Given the description of an element on the screen output the (x, y) to click on. 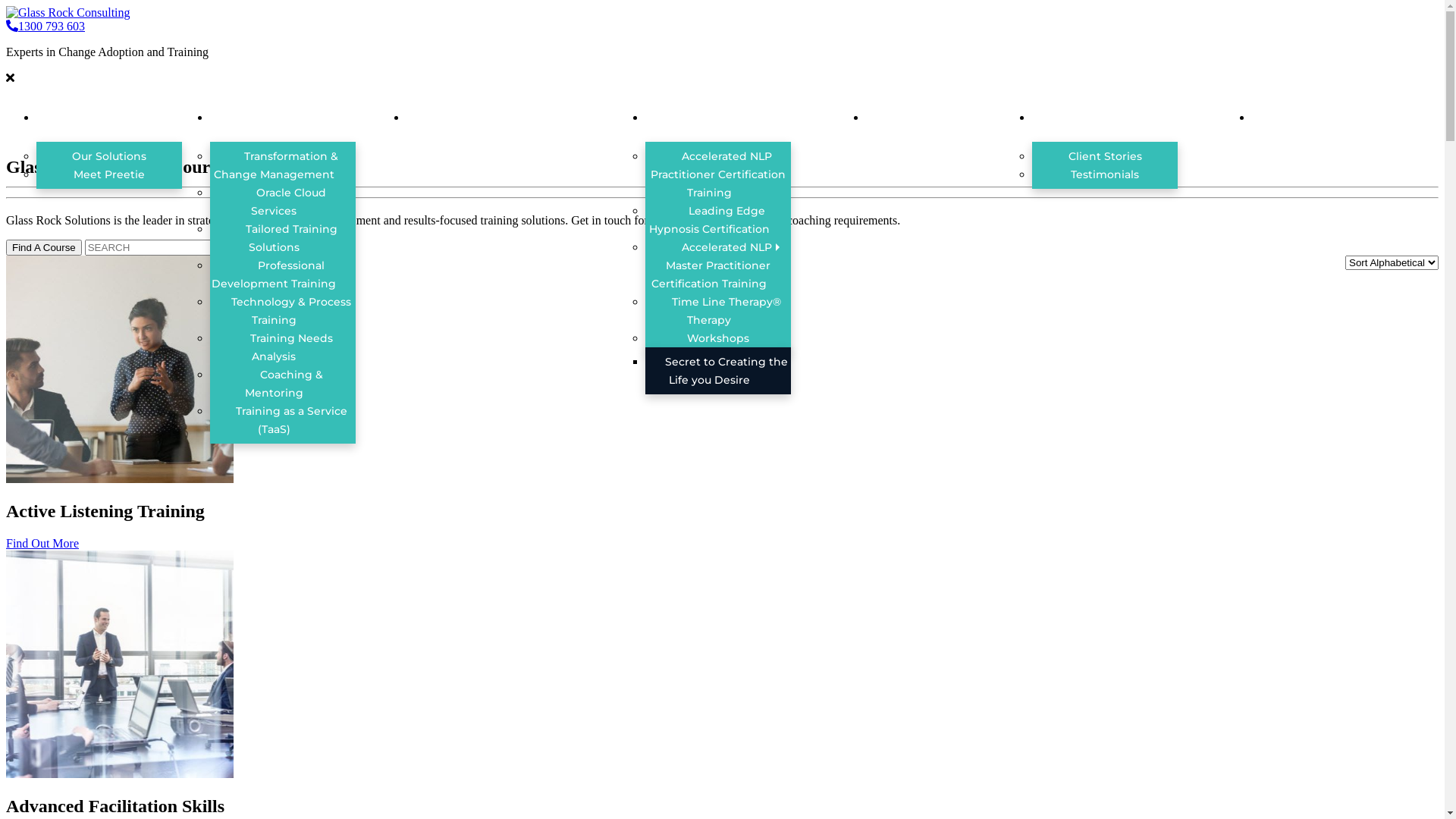
Testimonials Element type: text (1104, 174)
Leading Edge Hypnosis Certification Element type: text (718, 219)
Tailored Training Solutions Element type: text (282, 237)
Secret to Creating the Life you Desire Element type: text (717, 370)
Find A Course Element type: text (43, 247)
BLOG Element type: text (948, 119)
Coaching & Mentoring Element type: text (282, 383)
Technology & Process Training Element type: text (282, 310)
CERTIFICATIONS Element type: text (755, 119)
TRAINING COURSES Element type: text (525, 119)
Training Needs Analysis Element type: text (282, 347)
Client Stories Element type: text (1105, 155)
CLIENT STORIES Element type: text (1141, 119)
Our Solutions Element type: text (108, 155)
Workshops Element type: text (717, 337)
1300 793 603 Element type: text (45, 25)
SOLUTIONS Element type: text (308, 119)
Transformation & Change Management Element type: text (282, 165)
Oracle Cloud Services Element type: text (282, 201)
Professional Development Training Element type: text (282, 274)
Training as a Service (TaaS) Element type: text (282, 419)
Accelerated NLP Master Practitioner Certification Training Element type: text (717, 265)
Meet Preetie Element type: text (109, 174)
CONTACT Element type: text (1345, 119)
Find Out More Element type: text (42, 542)
ABOUT Element type: text (122, 119)
Accelerated NLP Practitioner Certification Training Element type: text (717, 174)
